Given the description of an element on the screen output the (x, y) to click on. 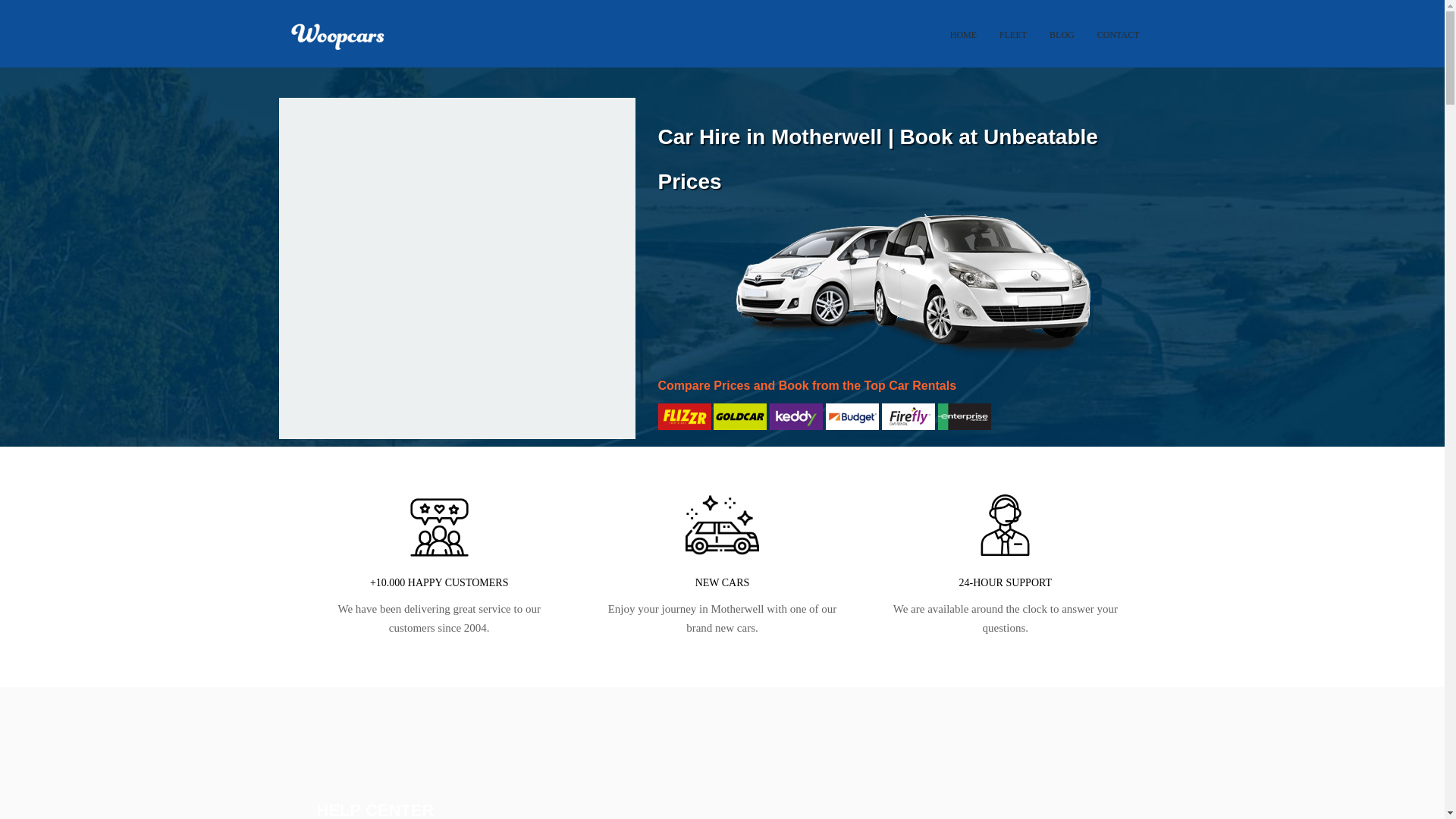
HOME (963, 49)
BLOG (1061, 49)
CONTACT (1118, 49)
FLEET (1012, 49)
